Given the description of an element on the screen output the (x, y) to click on. 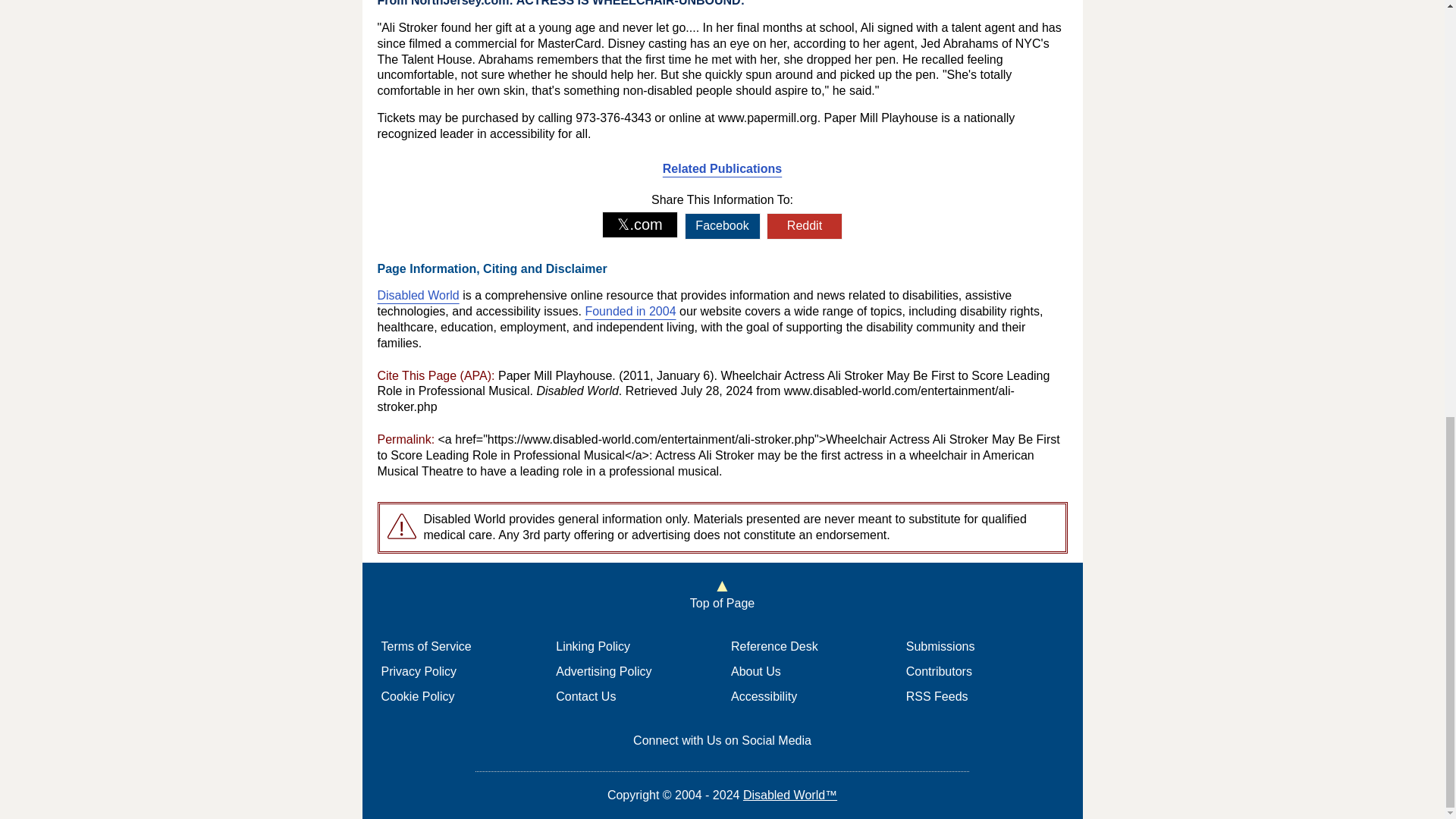
Linking Policy (593, 645)
Advertising Policy (603, 671)
Share on X (640, 224)
Founded in 2004 (630, 310)
Cookie Policy (417, 696)
Contact Us (585, 696)
Privacy Policy (418, 671)
Terms of Service (425, 645)
Disabled World (418, 295)
